Given the description of an element on the screen output the (x, y) to click on. 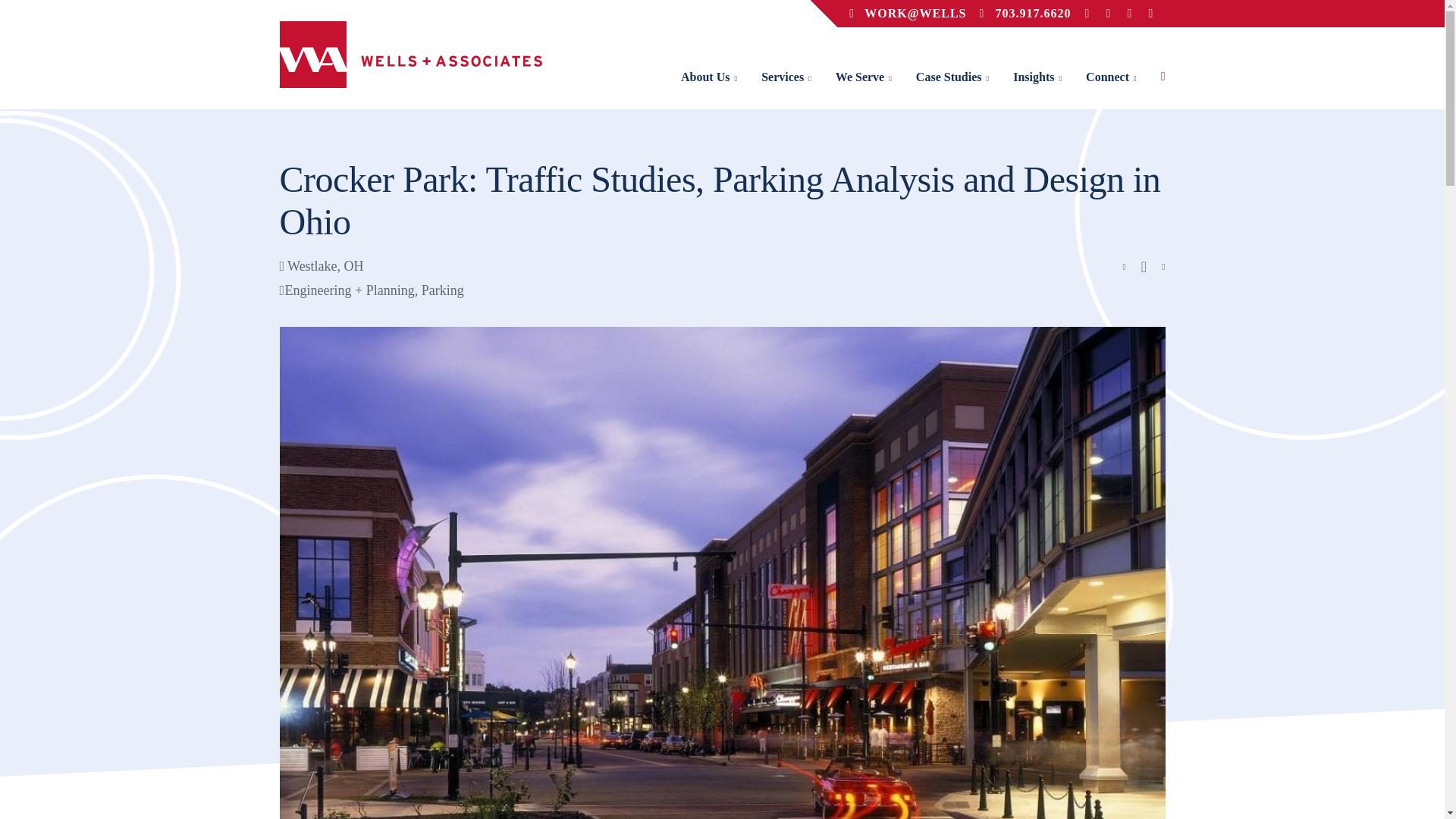
Twitter (1111, 13)
About Us (708, 77)
Services (786, 77)
YouTube (1153, 13)
Facebook (1132, 13)
LinkedIn (1090, 13)
Case Studies (952, 77)
We Serve (864, 77)
